Given the description of an element on the screen output the (x, y) to click on. 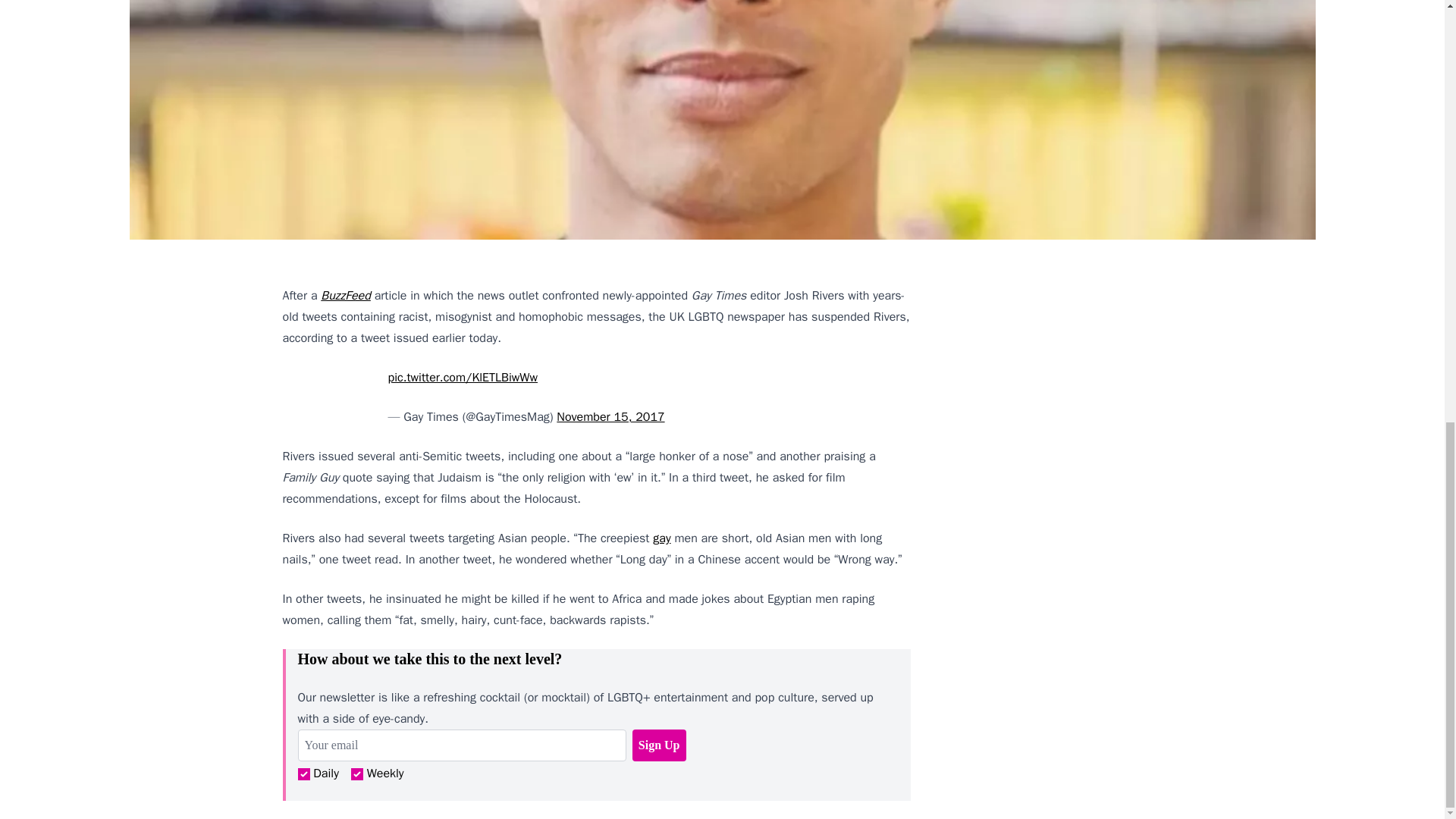
November 15, 2017 (609, 417)
BuzzFeed (345, 295)
Sign Up (658, 745)
gay (660, 538)
1924751 (302, 774)
Sign Up (658, 745)
1977099 (356, 774)
